Given the description of an element on the screen output the (x, y) to click on. 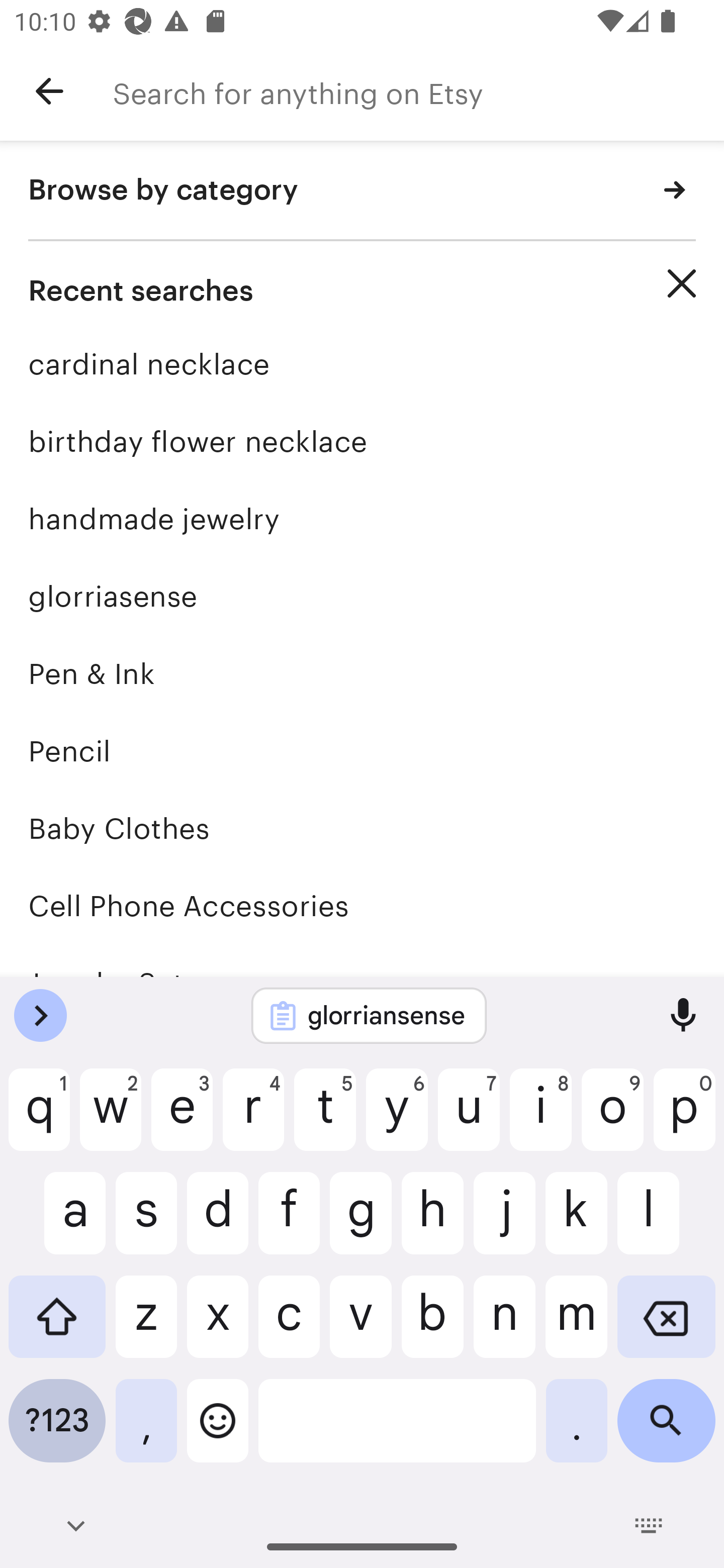
Navigate up (49, 91)
Search for anything on Etsy (418, 91)
Browse by category (362, 191)
Clear (681, 283)
cardinal necklace (362, 364)
birthday flower necklace (362, 440)
handmade jewelry (362, 518)
glorriasense (362, 596)
Pen & Ink (362, 673)
Pencil (362, 750)
Baby Clothes (362, 828)
Cell Phone Accessories (362, 906)
